Given the description of an element on the screen output the (x, y) to click on. 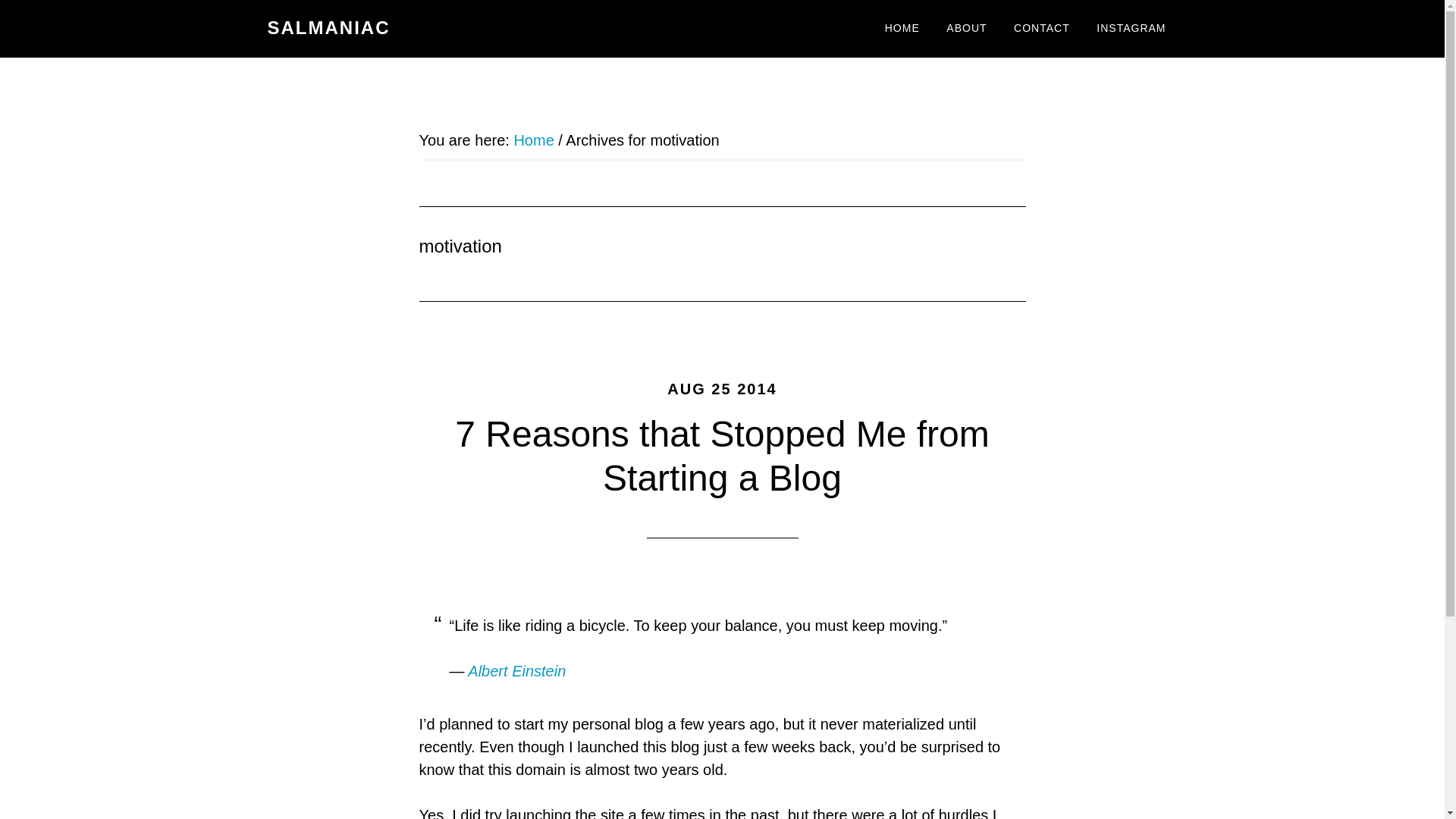
INSTAGRAM (1130, 28)
Albert Einstein Quote Citation (516, 670)
Home (533, 139)
CONTACT (1042, 28)
HOME (902, 28)
Albert Einstein (516, 670)
ABOUT (965, 28)
7 Reasons that Stopped Me from Starting a Blog (721, 455)
SALMANIAC (328, 27)
